Given the description of an element on the screen output the (x, y) to click on. 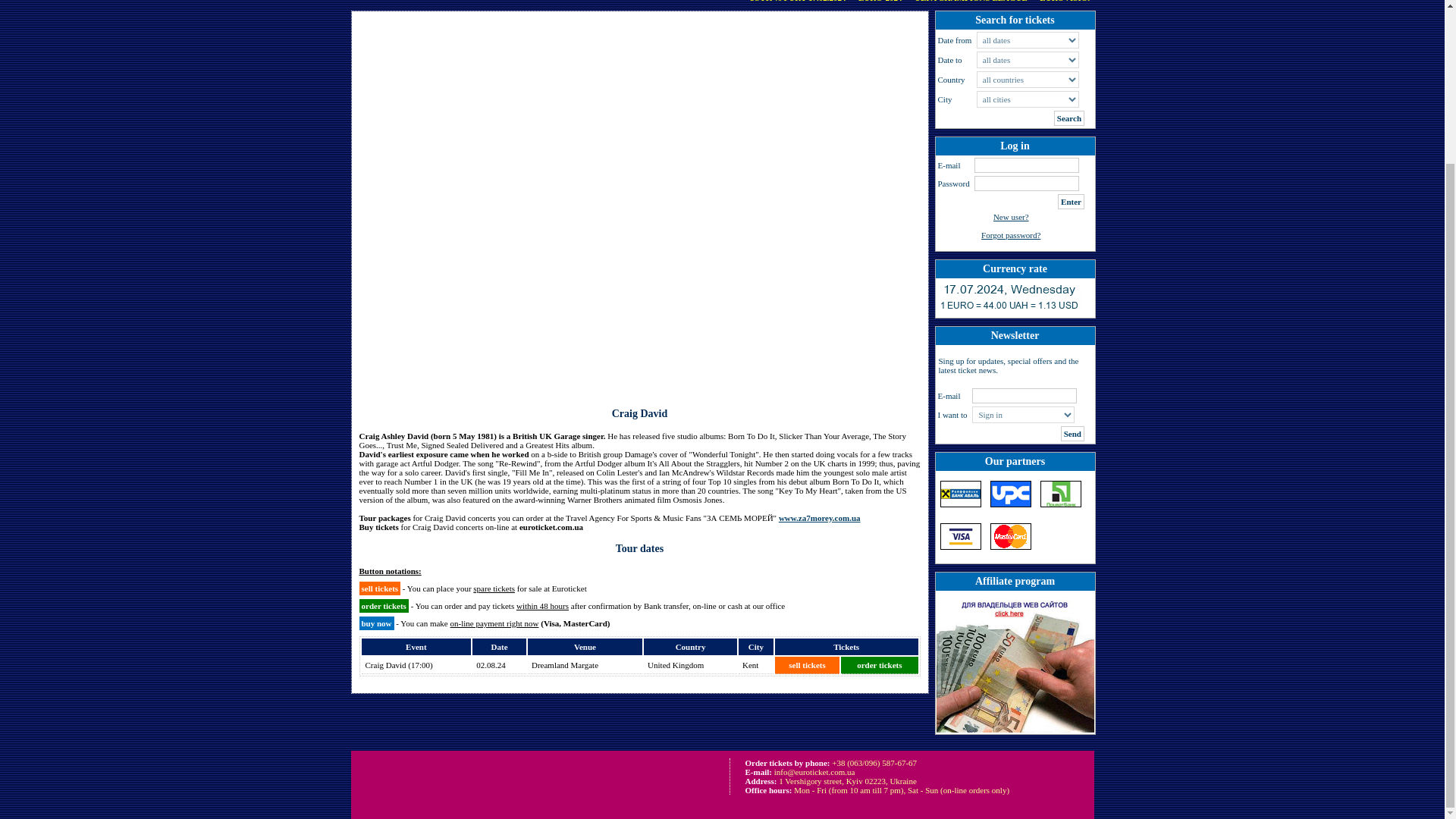
Send (1072, 433)
Search (1069, 118)
www.za7morey.com.ua (819, 517)
Enter (1071, 201)
